Given the description of an element on the screen output the (x, y) to click on. 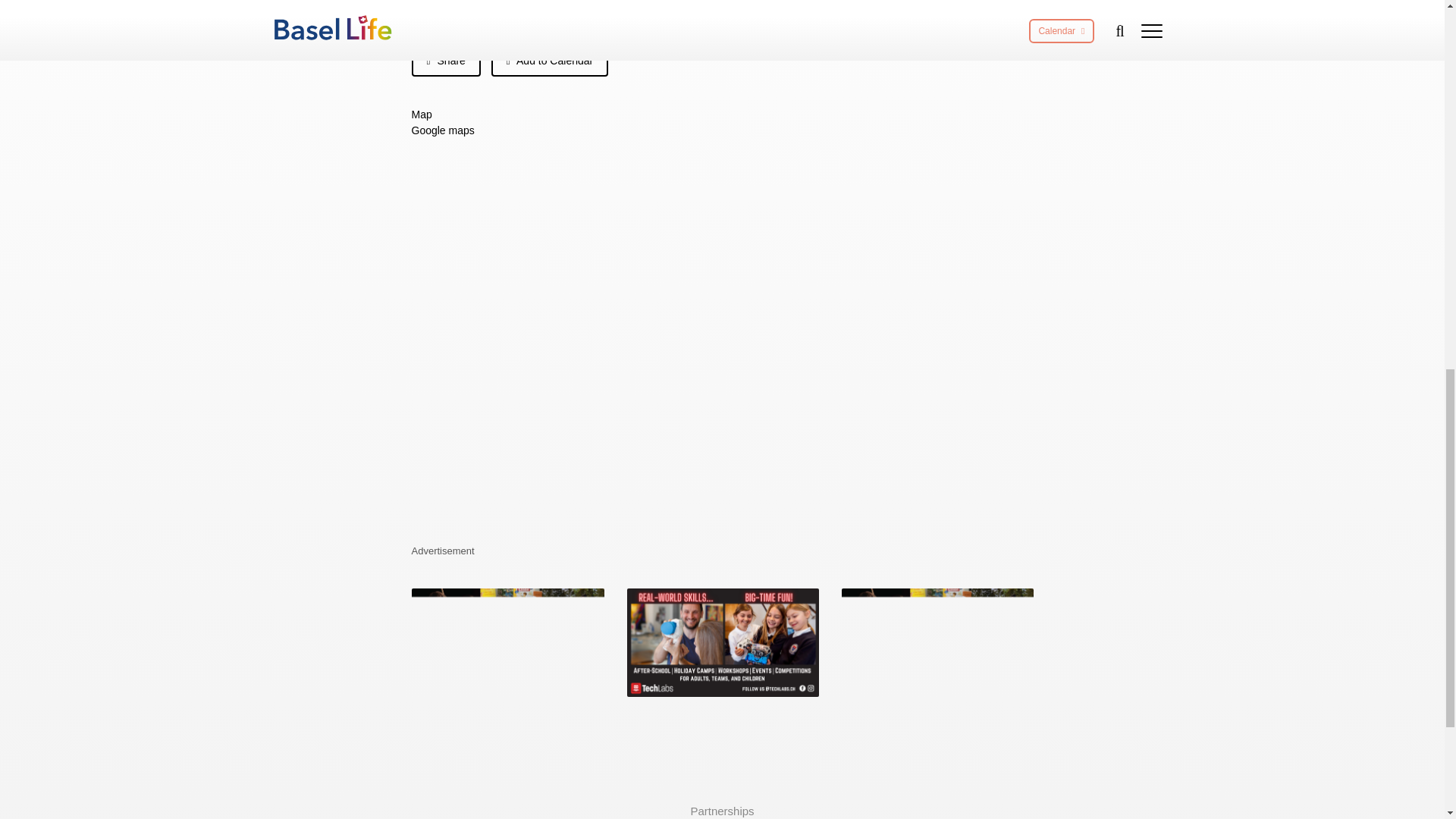
Google maps (442, 130)
Share (445, 60)
Add to Calendar (550, 60)
